Given the description of an element on the screen output the (x, y) to click on. 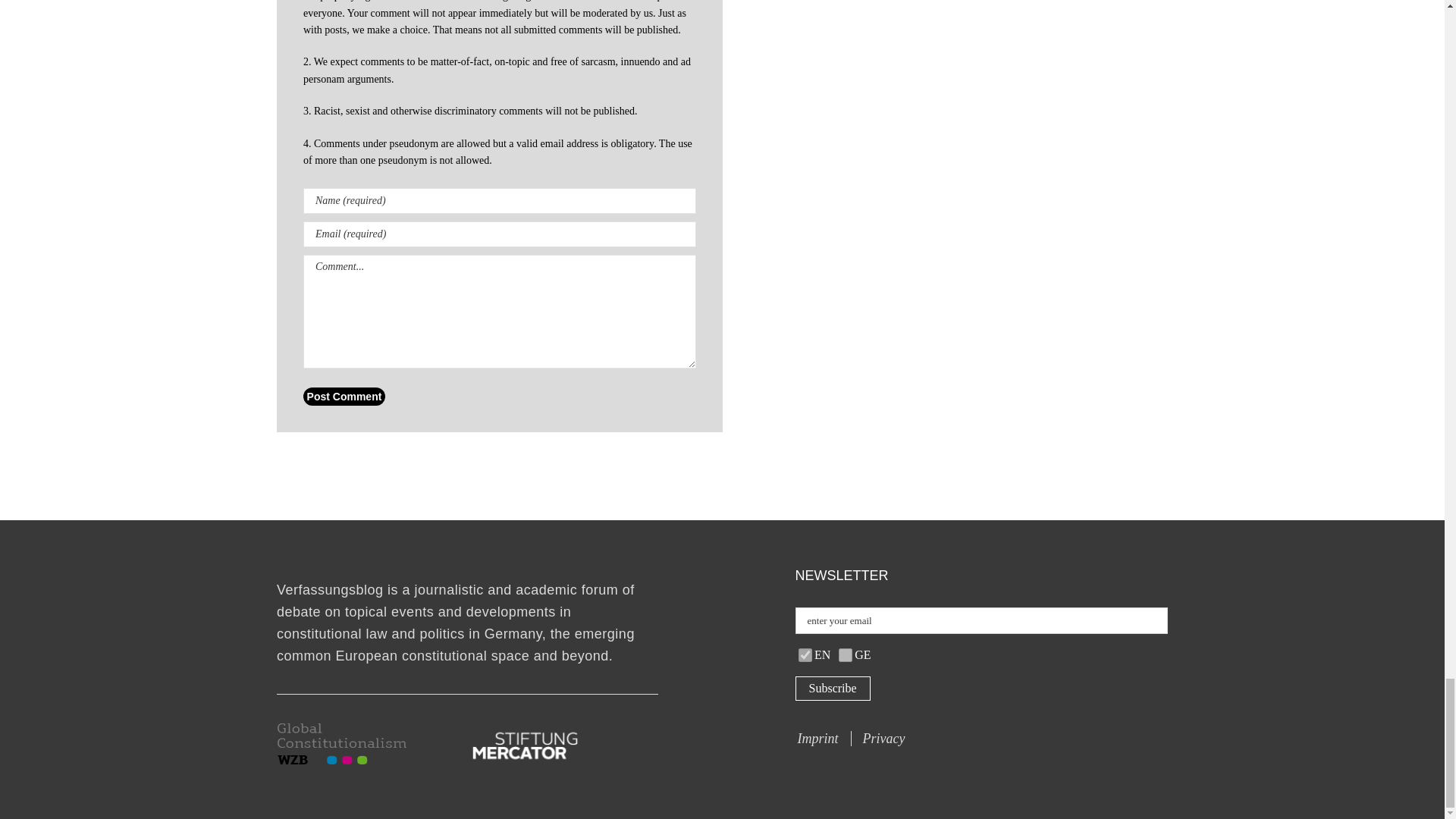
Subscribe (831, 688)
2 (804, 654)
1 (844, 654)
Post Comment (343, 396)
